Given the description of an element on the screen output the (x, y) to click on. 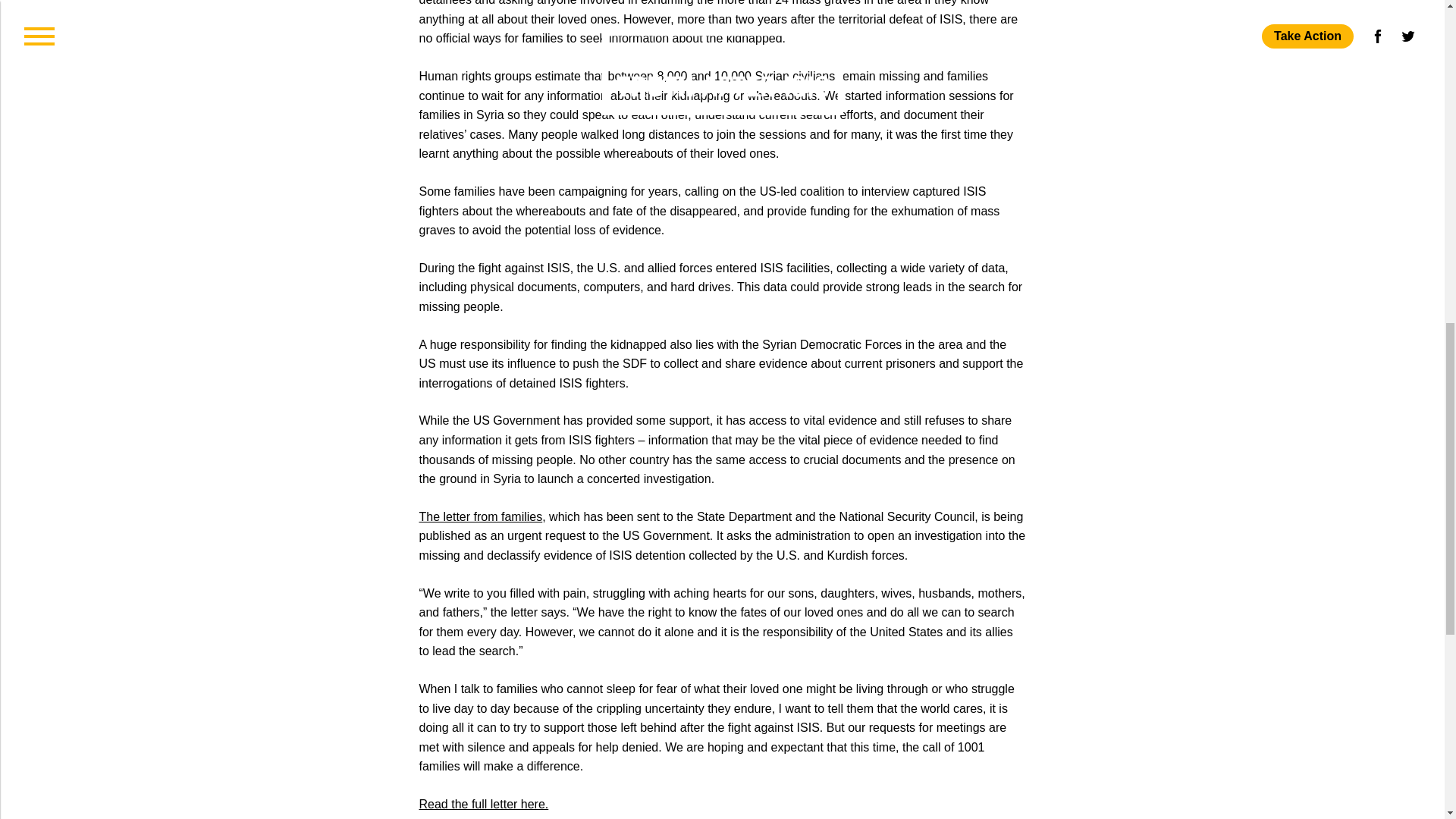
Read the full letter here. (483, 803)
The letter from families (480, 516)
